Given the description of an element on the screen output the (x, y) to click on. 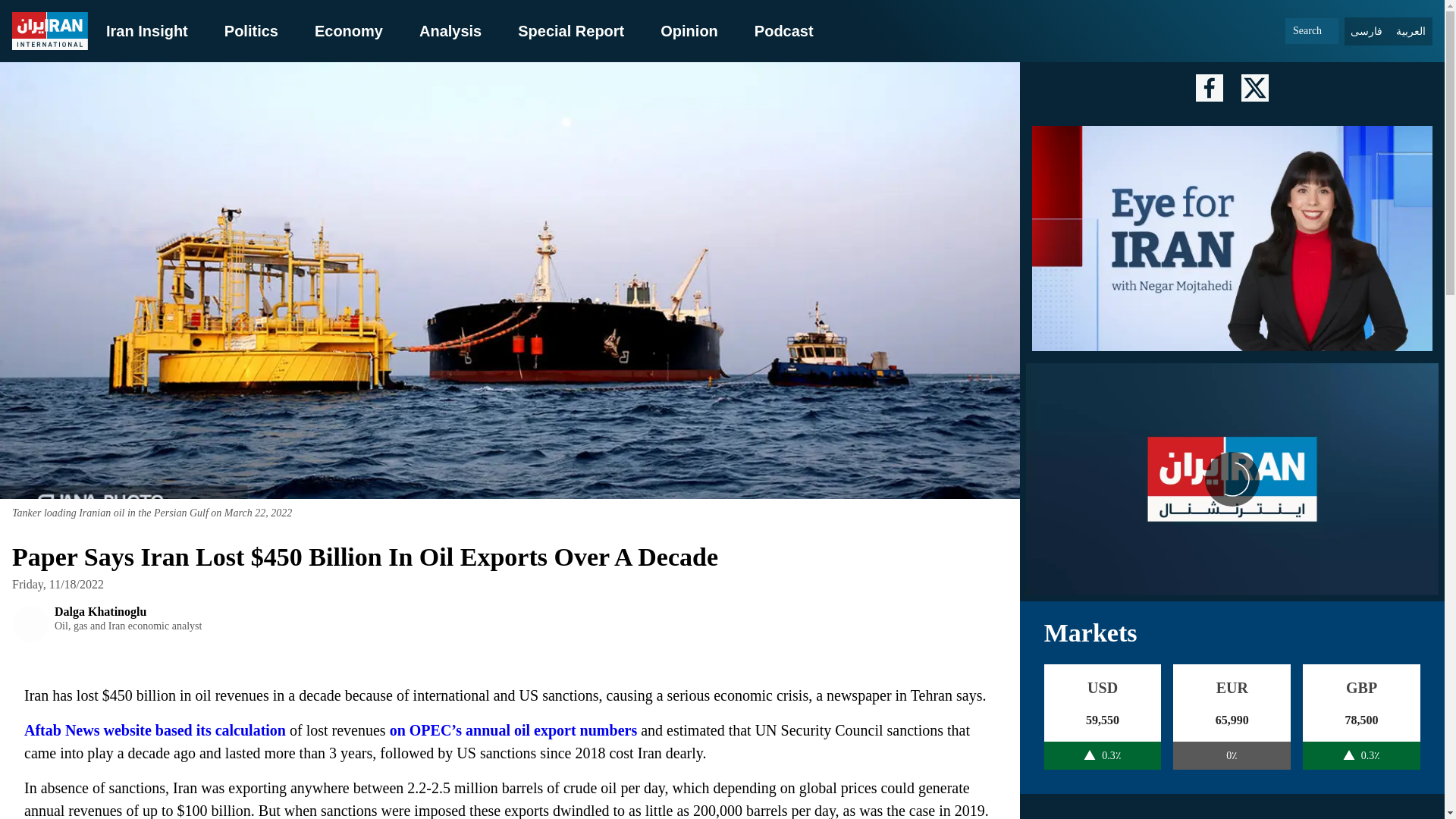
Special Report (106, 624)
Live TV (571, 30)
Opinion (1232, 479)
Economy (689, 30)
Aftab News website based its calculation (348, 30)
Podcast (154, 729)
Politics (783, 30)
Iran Insight (251, 30)
Analysis (146, 30)
